Given the description of an element on the screen output the (x, y) to click on. 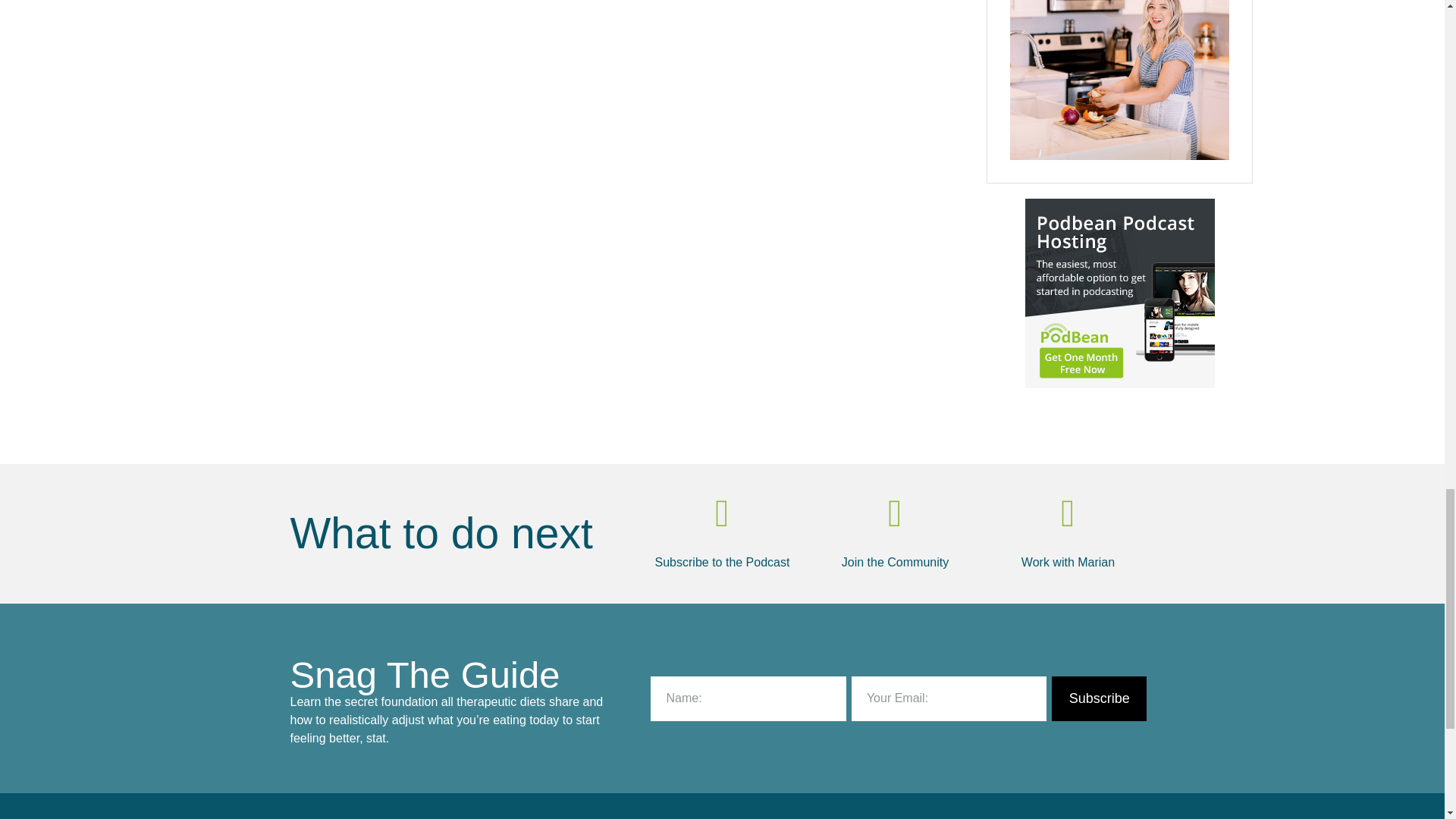
Subscribe to the Podcast (722, 562)
Join the Community (895, 562)
